Given the description of an element on the screen output the (x, y) to click on. 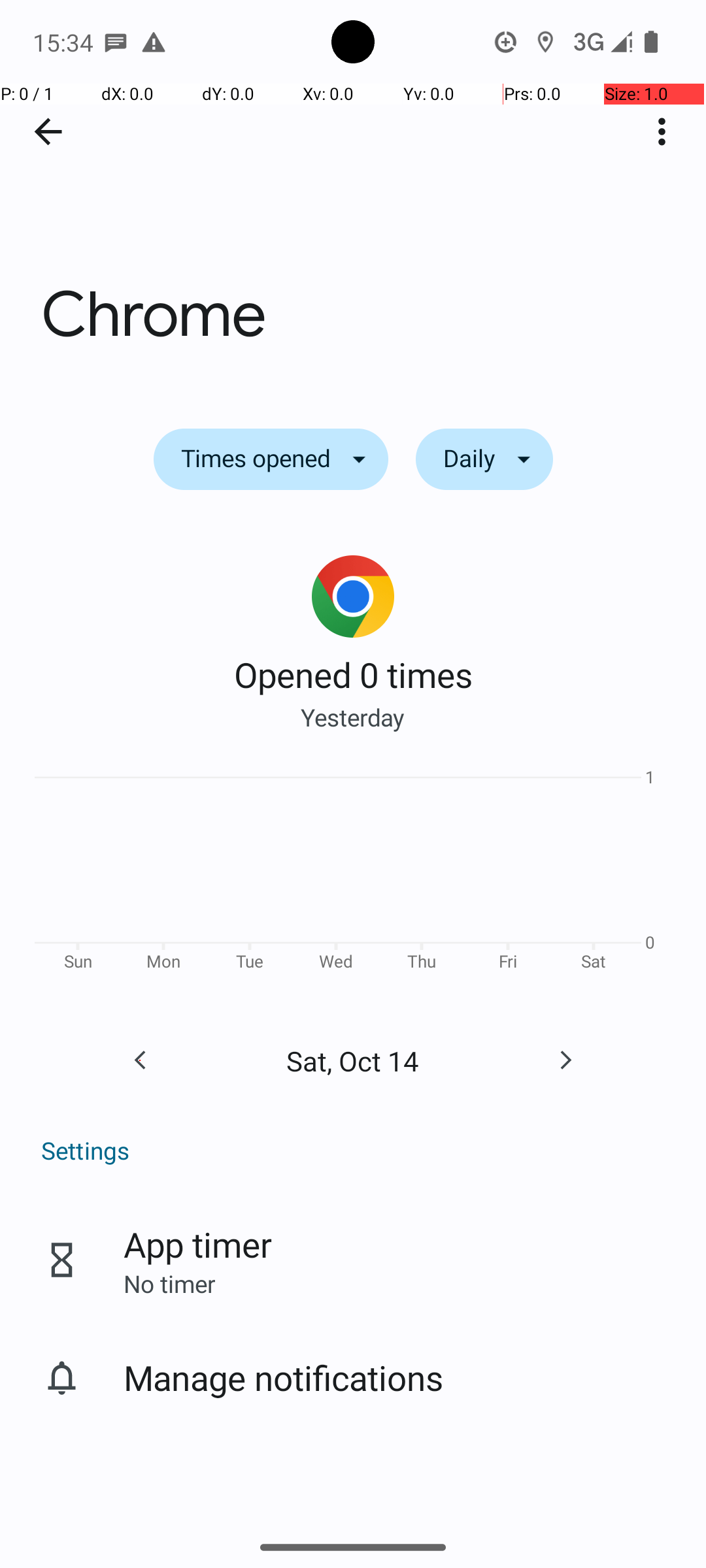
Times opened Element type: android.widget.Spinner (270, 459)
Daily Element type: android.widget.Spinner (484, 459)
Opened 0 times Element type: android.widget.TextView (353, 674)
Go to the previous day Element type: android.widget.Button (139, 1060)
Go to the next day Element type: android.widget.Button (565, 1060)
Bar Chart. Showing App usage data with 7 data points. Element type: android.view.ViewGroup (353, 873)
App timer Element type: android.widget.TextView (197, 1244)
No timer Element type: android.widget.TextView (169, 1283)
Manage notifications Element type: android.widget.TextView (283, 1377)
